Given the description of an element on the screen output the (x, y) to click on. 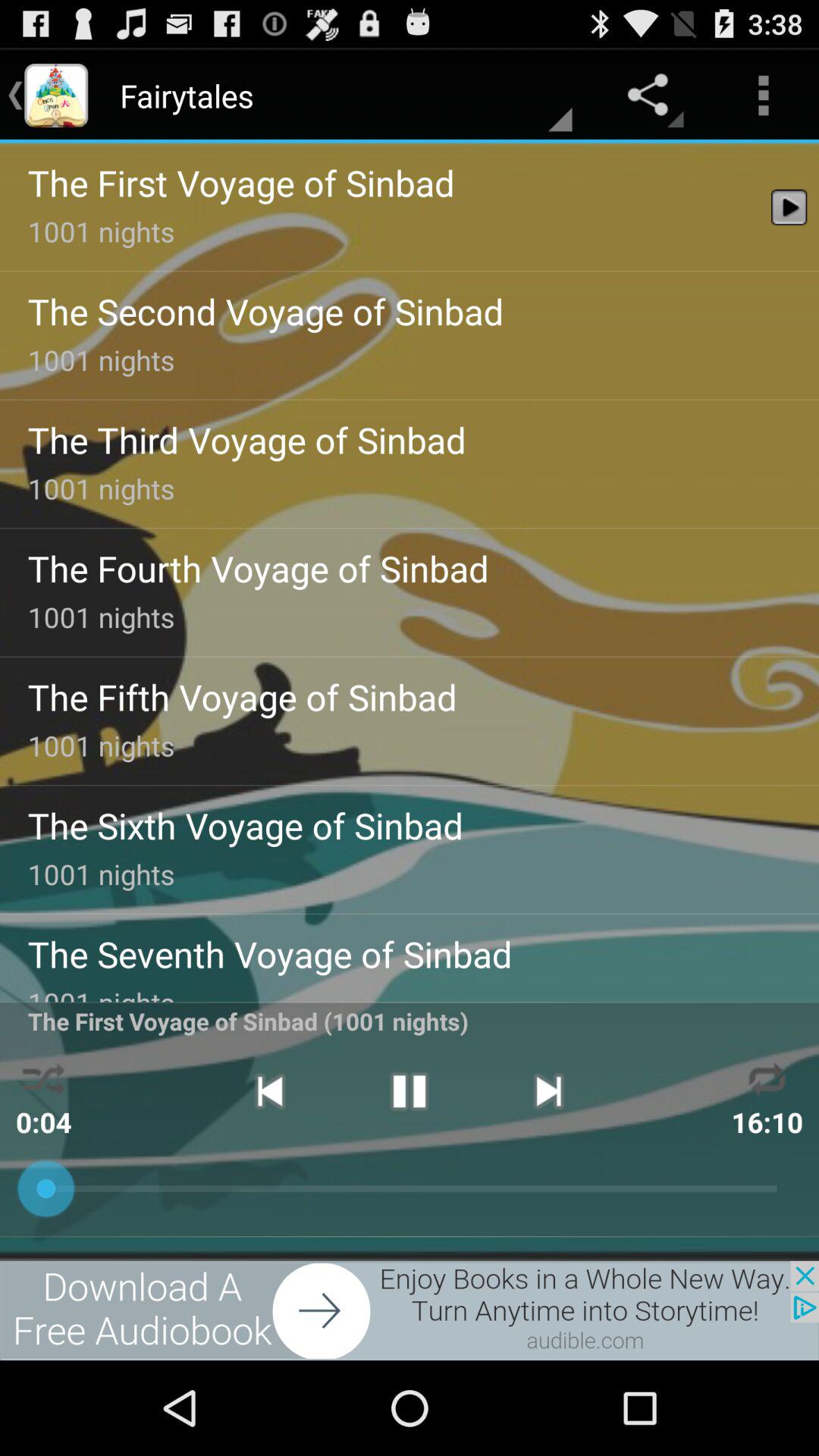
click advertisement (409, 1310)
